Given the description of an element on the screen output the (x, y) to click on. 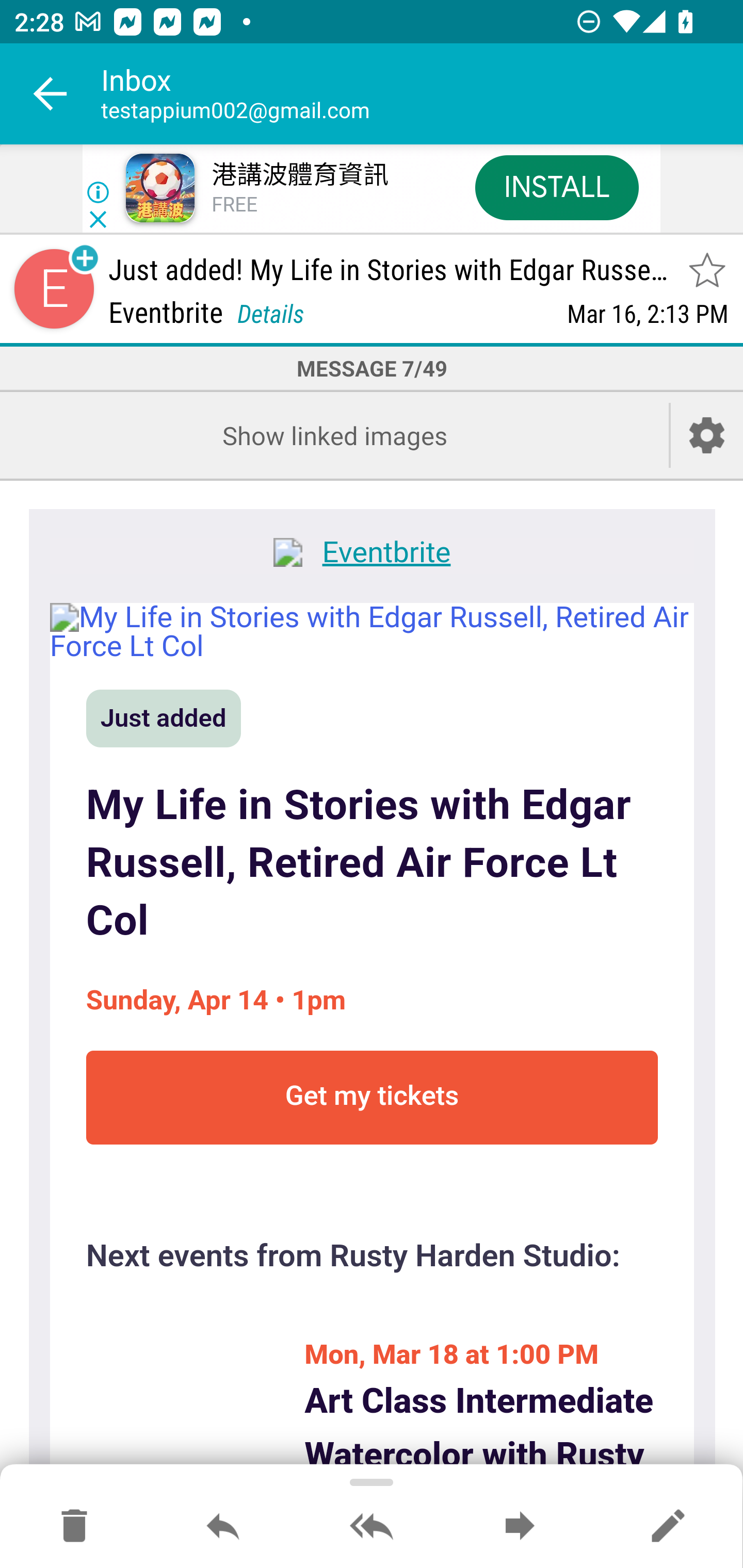
Navigate up (50, 93)
Inbox testappium002@gmail.com (422, 93)
INSTALL (556, 187)
港講波體育資訊 (299, 175)
FREE (234, 204)
Sender contact button (53, 289)
Show linked images (334, 435)
Account setup (706, 435)
Eventbrite (371, 554)
Get my tickets (371, 1098)
Move to Deleted (74, 1527)
Reply (222, 1527)
Reply all (371, 1527)
Forward (519, 1527)
Reply as new (667, 1527)
